Given the description of an element on the screen output the (x, y) to click on. 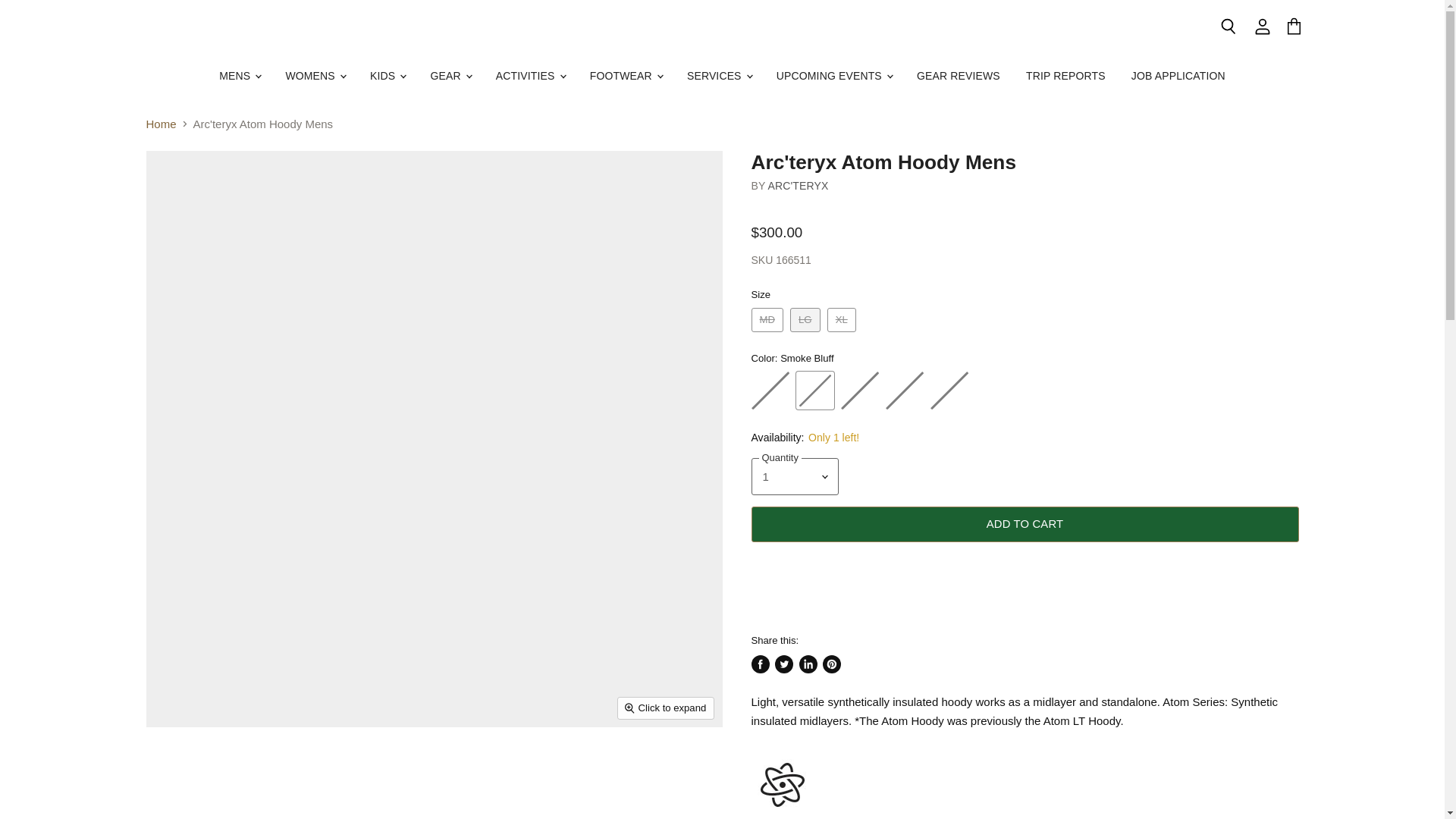
Search (1227, 27)
View account (1262, 27)
MENS (239, 75)
Arc'teryx (797, 185)
